Given the description of an element on the screen output the (x, y) to click on. 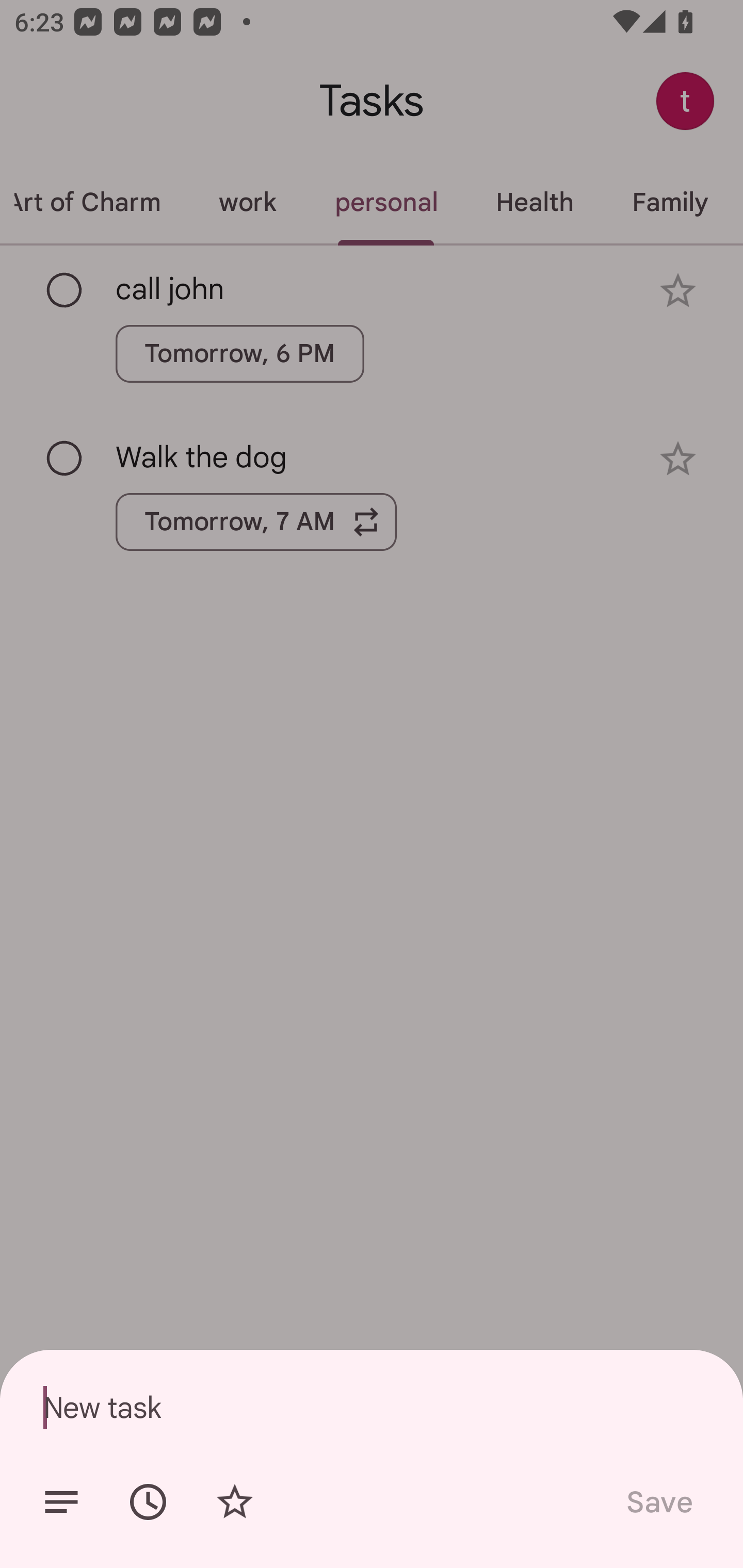
New task (371, 1407)
Save (659, 1501)
Add details (60, 1501)
Set date/time (147, 1501)
Add star (234, 1501)
